Given the description of an element on the screen output the (x, y) to click on. 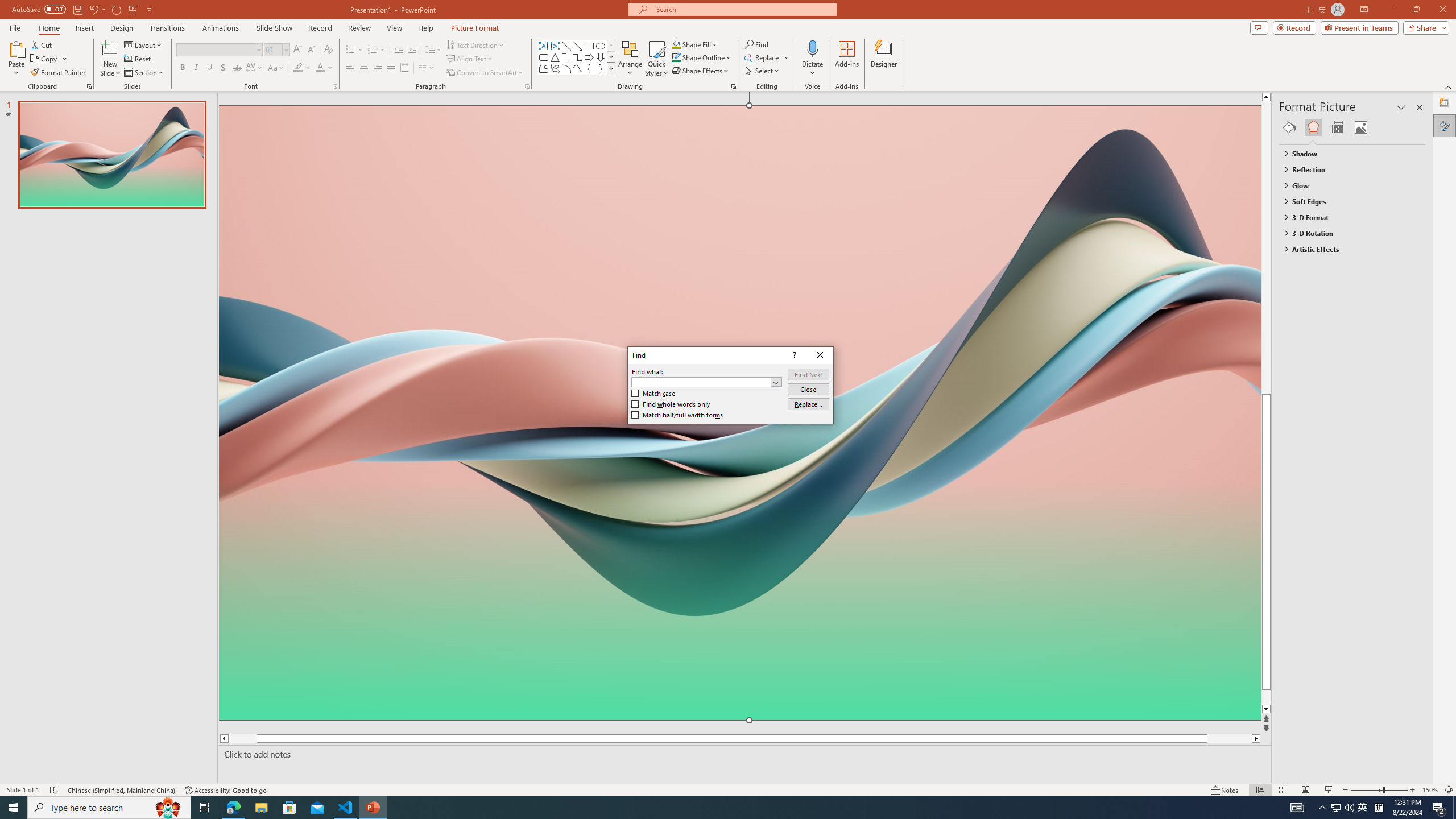
Center (363, 67)
Notification Chevron (1322, 807)
Microsoft search (742, 9)
Type here to search (108, 807)
Format Painter (58, 72)
Context help (793, 355)
Show desktop (1454, 807)
Find what (700, 381)
Underline (209, 67)
